Given the description of an element on the screen output the (x, y) to click on. 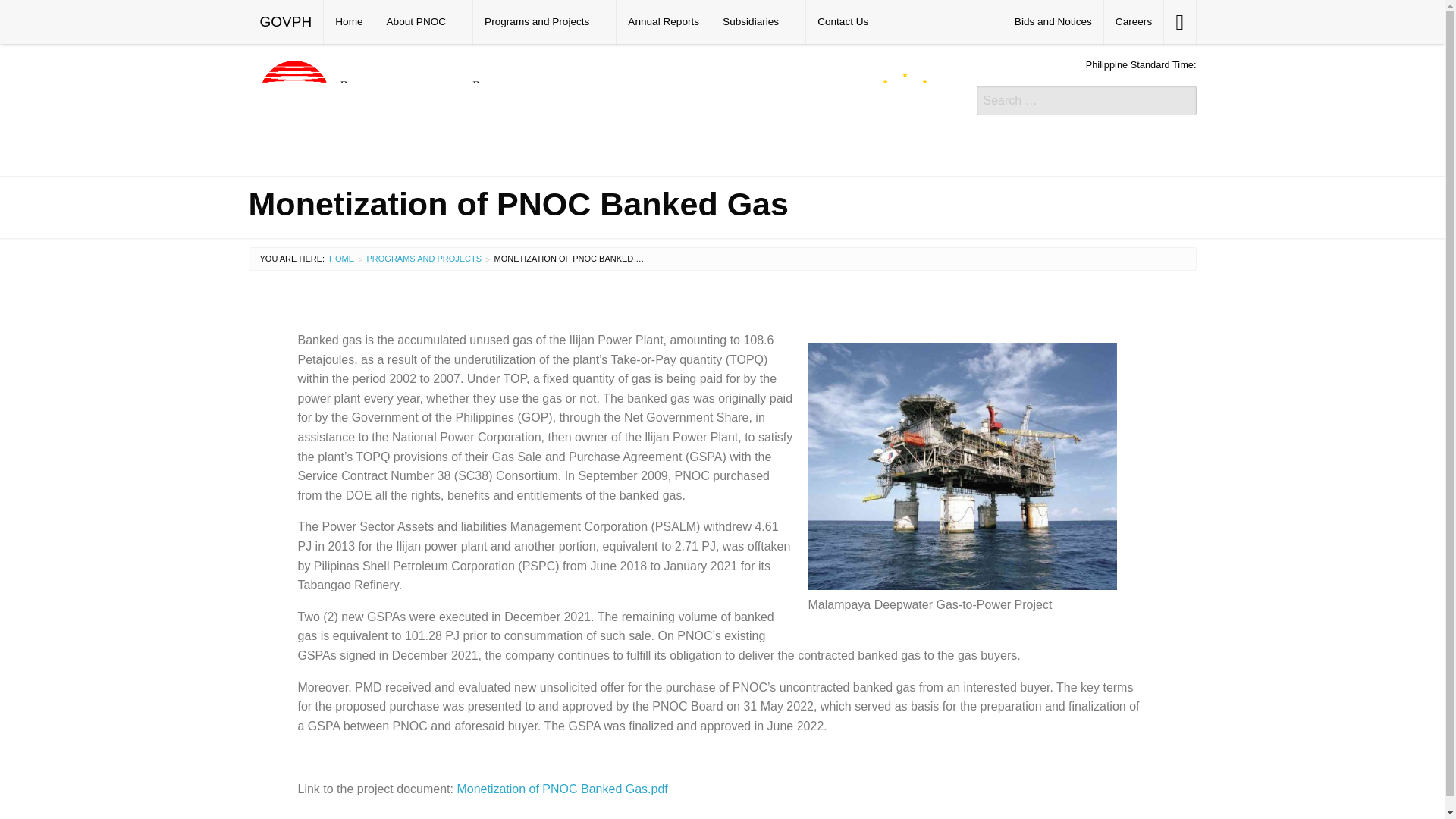
About PNOC (424, 22)
Search for: (1086, 100)
Programs and Projects (423, 257)
Home (348, 22)
View this pdf file (675, 788)
GOVPH (285, 22)
PNOC (600, 107)
